Given the description of an element on the screen output the (x, y) to click on. 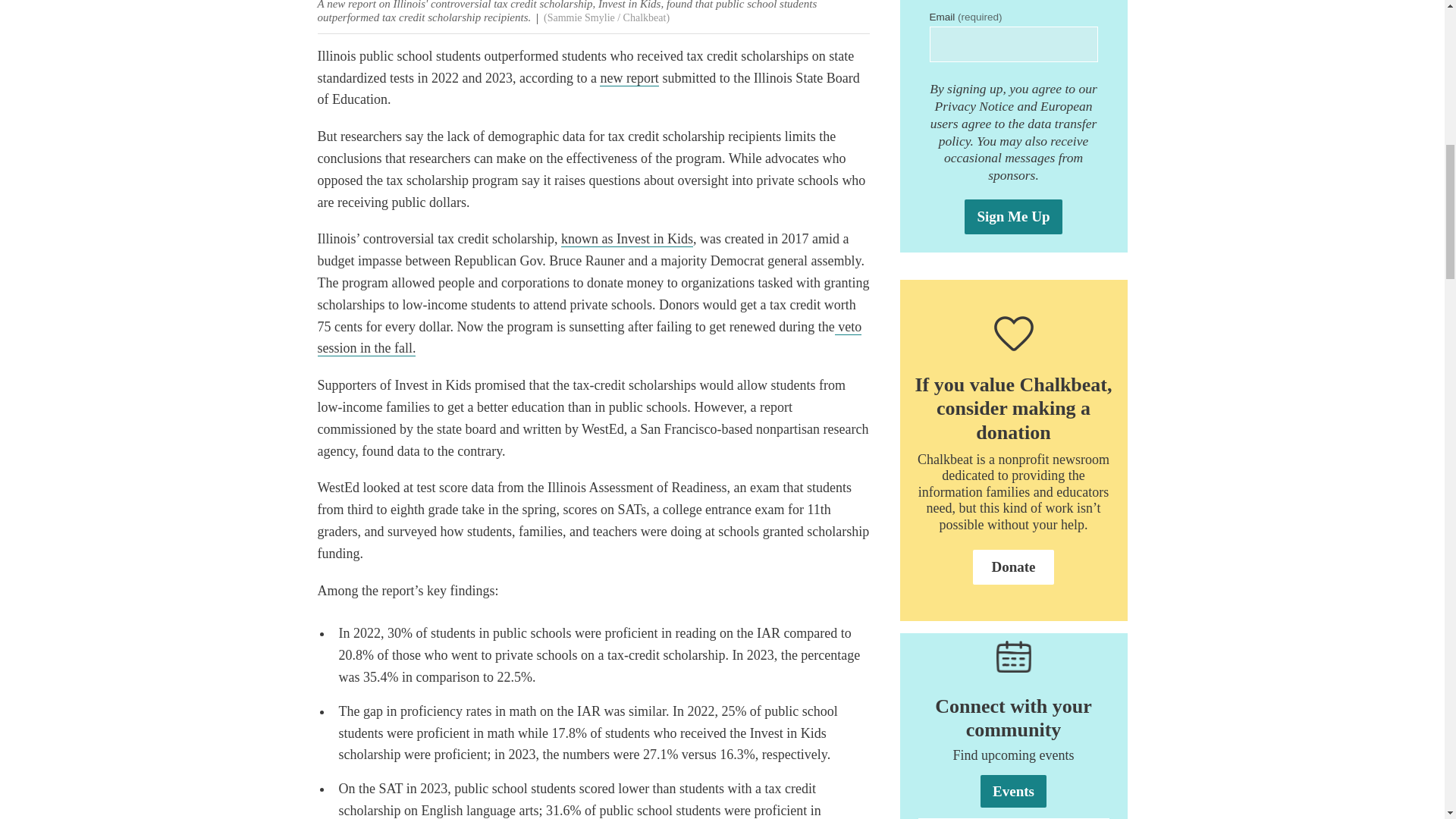
known as Invest in Kids (626, 238)
veto session in the fall. (589, 338)
new report (628, 78)
